Given the description of an element on the screen output the (x, y) to click on. 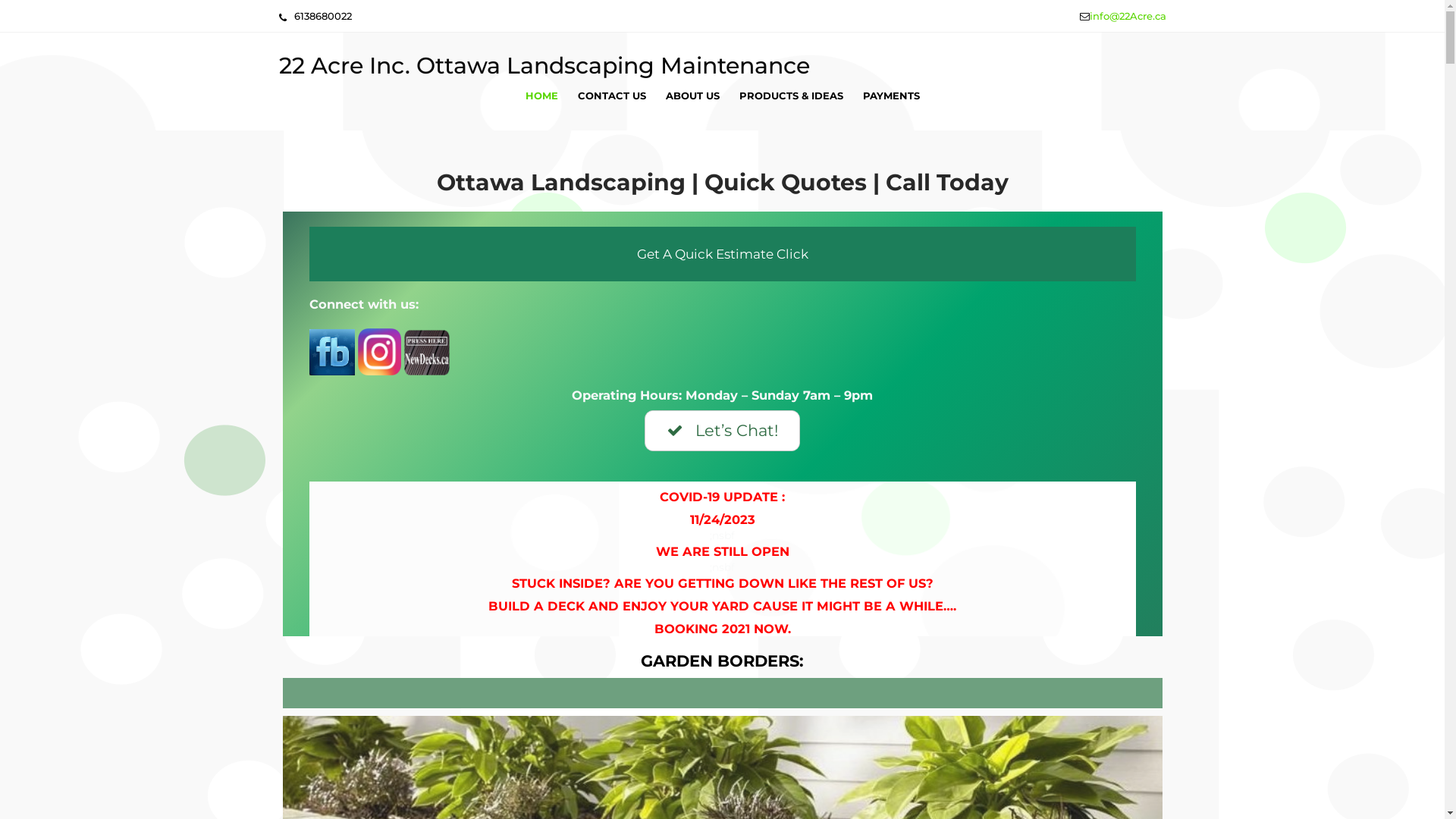
Get A Quick Estimate Click Element type: text (722, 253)
ABOUT US Element type: text (691, 95)
https://newdecks.ca/contact-us/ Element type: hover (425, 352)
HOME Element type: text (541, 95)
PRODUCTS & IDEAS Element type: text (791, 95)
info@22Acre.ca Element type: text (1126, 15)
PAYMENTS Element type: text (890, 95)
Instagram Element type: hover (379, 351)
22 Acre Inc. Ottawa Landscaping Maintenance Element type: text (544, 65)
Facebook Element type: hover (331, 352)
CONTACT US Element type: text (610, 95)
